Given the description of an element on the screen output the (x, y) to click on. 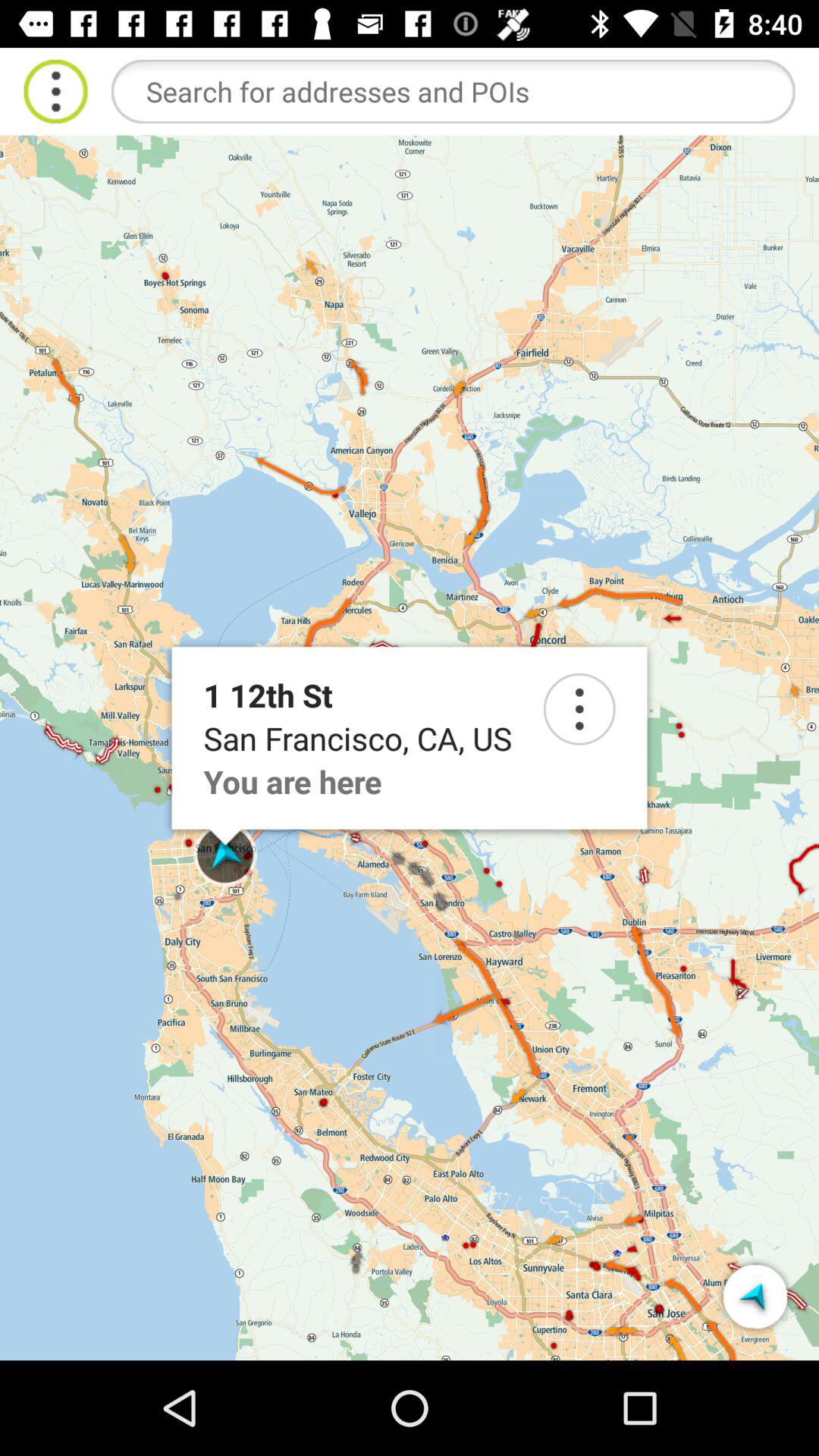
go to setting (579, 709)
